Given the description of an element on the screen output the (x, y) to click on. 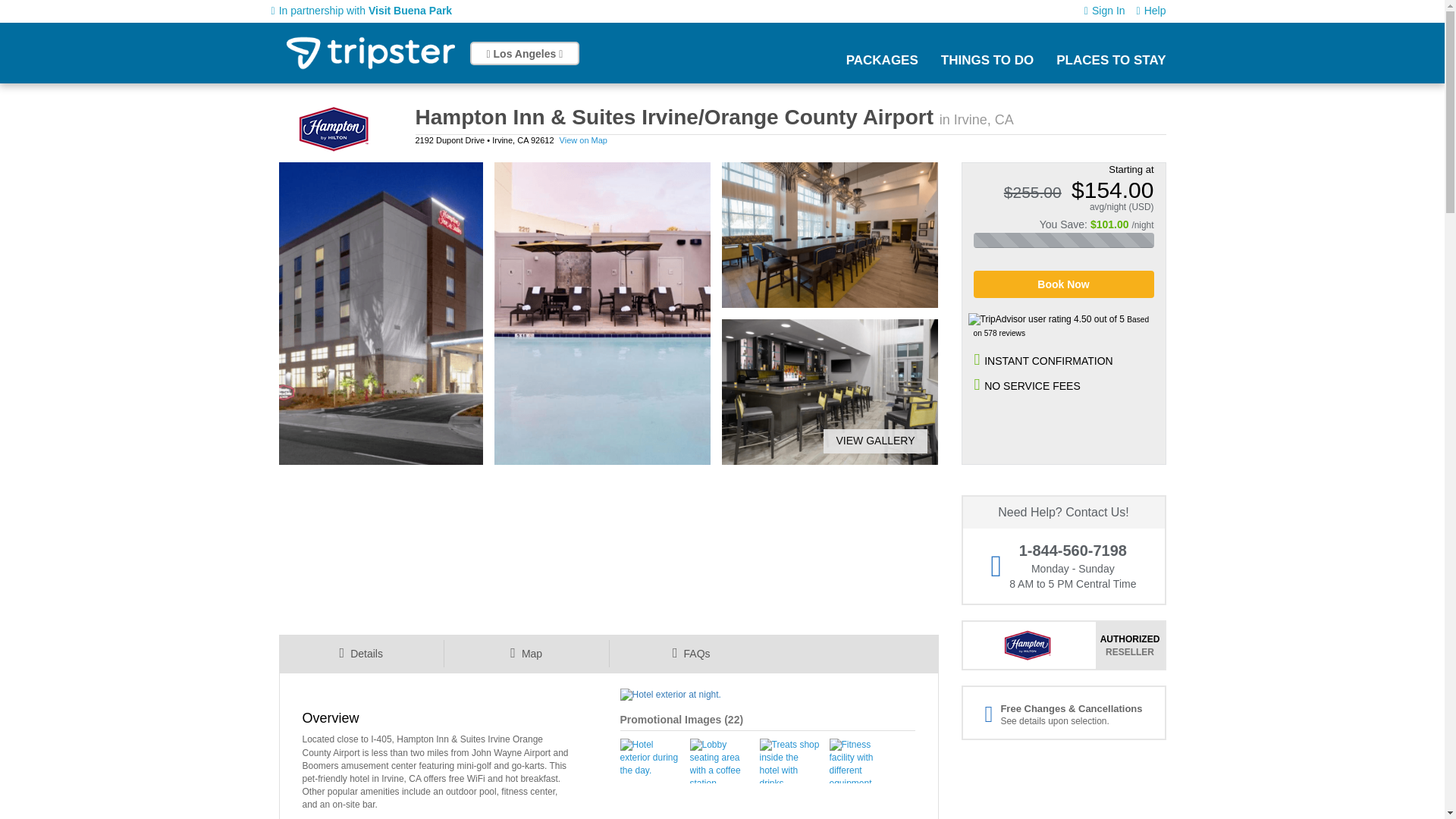
PACKAGES (881, 60)
Book Now (1064, 284)
PLACES TO STAY (1111, 60)
FAQs (690, 653)
Details (361, 653)
THINGS TO DO (986, 60)
Map (526, 653)
22 (733, 719)
Los Angeles (524, 53)
VIEW GALLERY (869, 440)
